Given the description of an element on the screen output the (x, y) to click on. 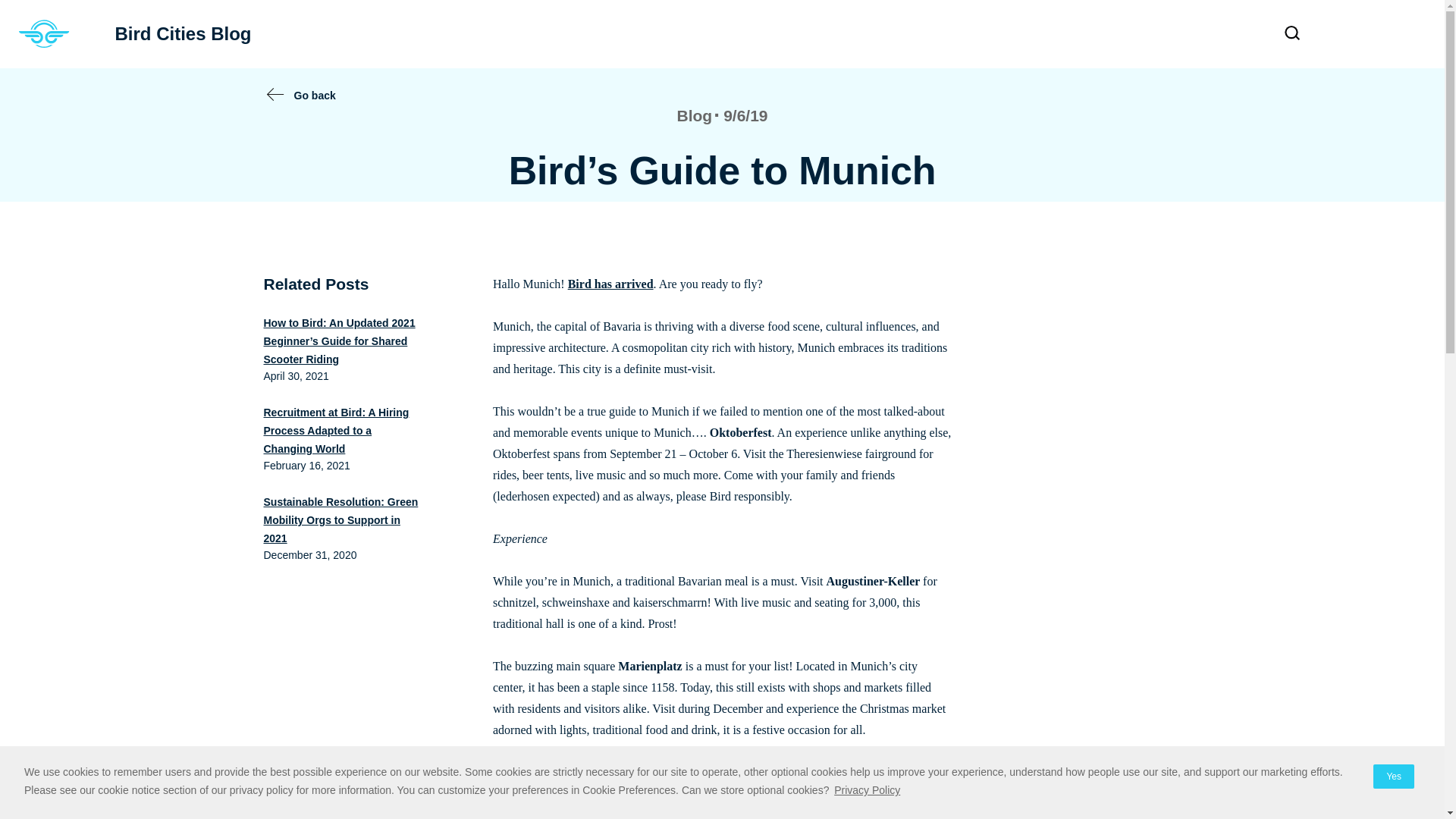
Bird Cities Blog (160, 34)
Bird has arrived (610, 283)
Privacy Policy (866, 790)
Yes (1393, 776)
Back to Home Page (160, 34)
Go back (43, 34)
Go back (315, 95)
